Given the description of an element on the screen output the (x, y) to click on. 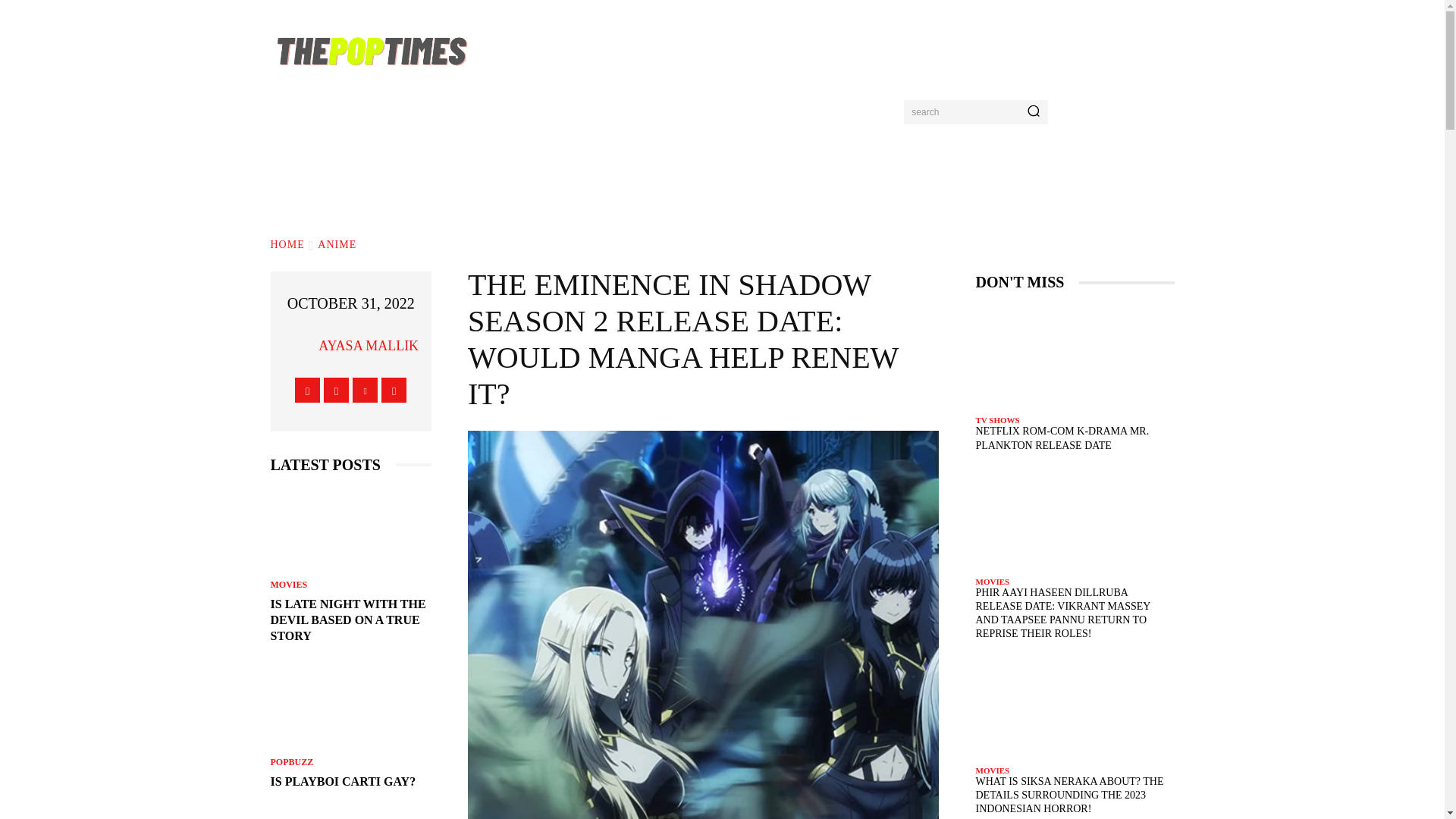
POPBUZZ (291, 761)
Instagram (336, 389)
Twitter (364, 389)
MOVIES (288, 583)
Facebook (307, 389)
Youtube (393, 389)
IS PLAYBOI CARTI GAY? (341, 780)
AYASA MALLIK (368, 345)
View all posts in Anime (336, 244)
HOME (286, 244)
